Given the description of an element on the screen output the (x, y) to click on. 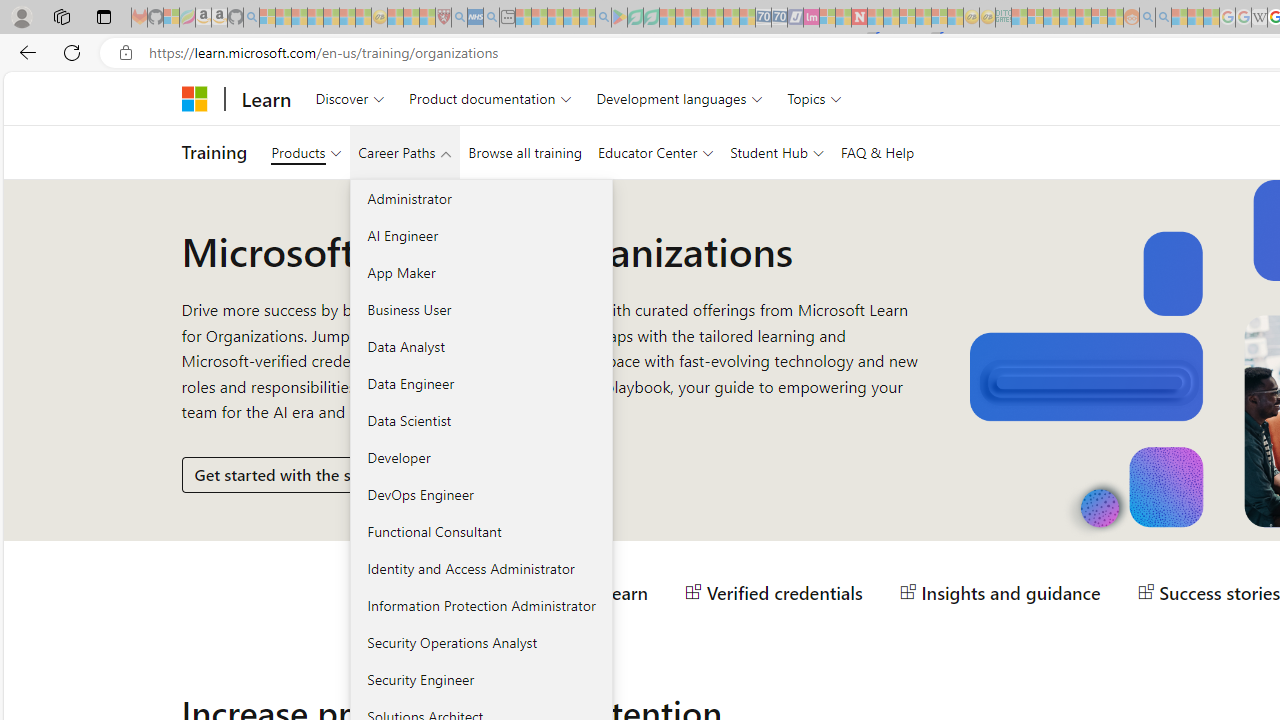
Products (306, 152)
Student Hub (777, 152)
App Maker (480, 272)
DevOps Engineer (480, 493)
Pets - MSN - Sleeping (571, 17)
